Given the description of an element on the screen output the (x, y) to click on. 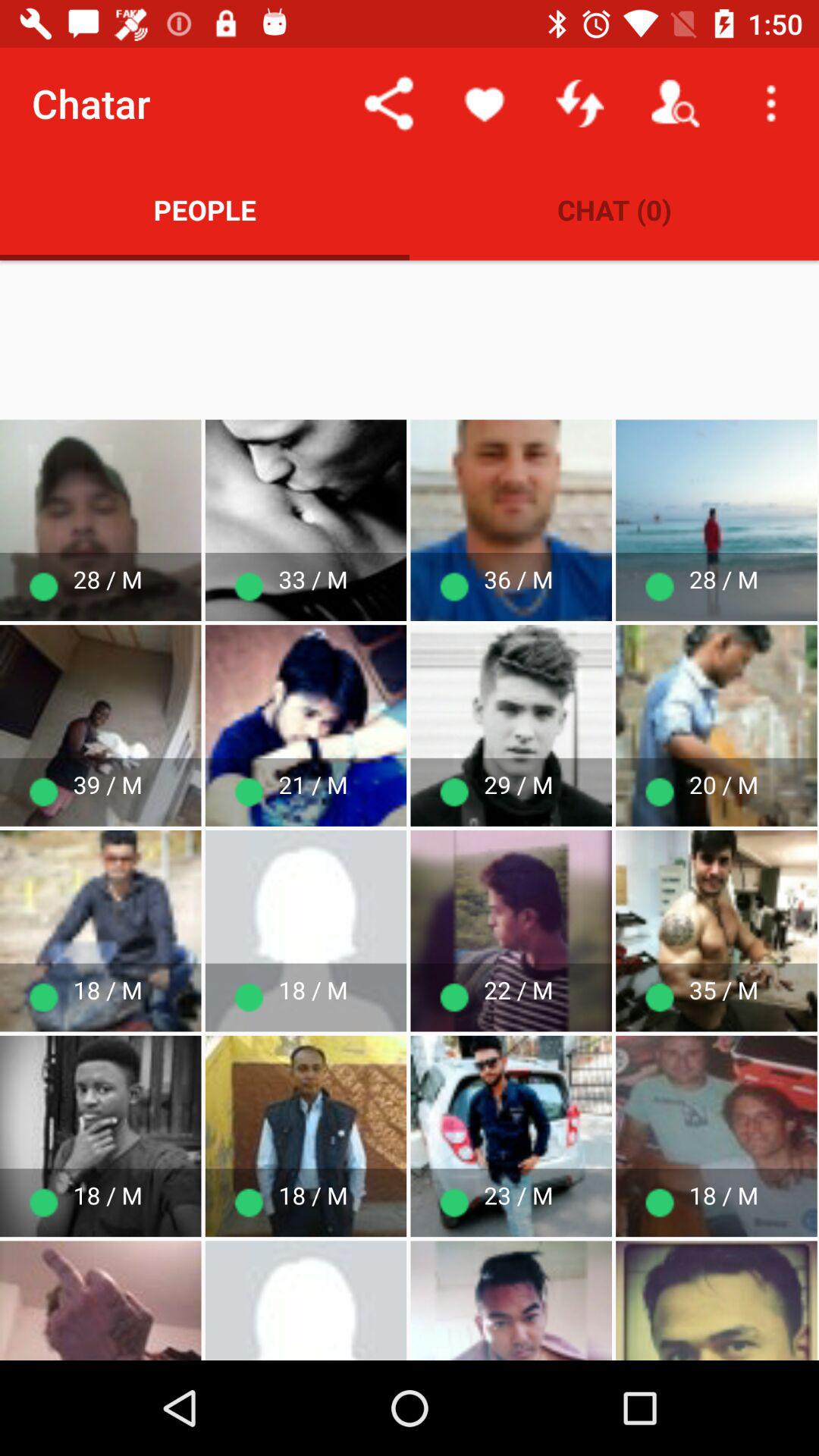
open the item above chat (0) item (675, 103)
